Given the description of an element on the screen output the (x, y) to click on. 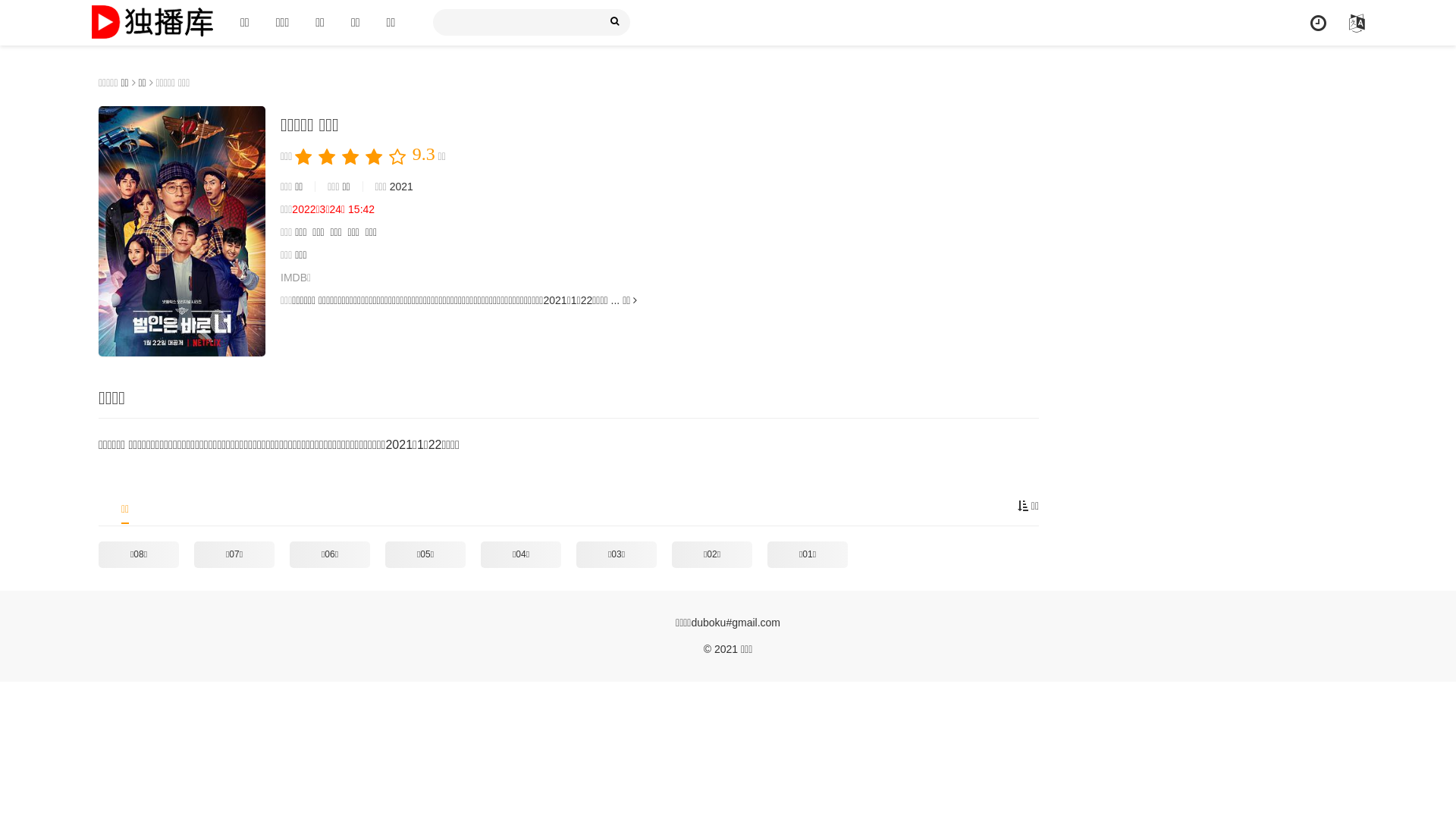
2021 Element type: text (401, 186)
